Given the description of an element on the screen output the (x, y) to click on. 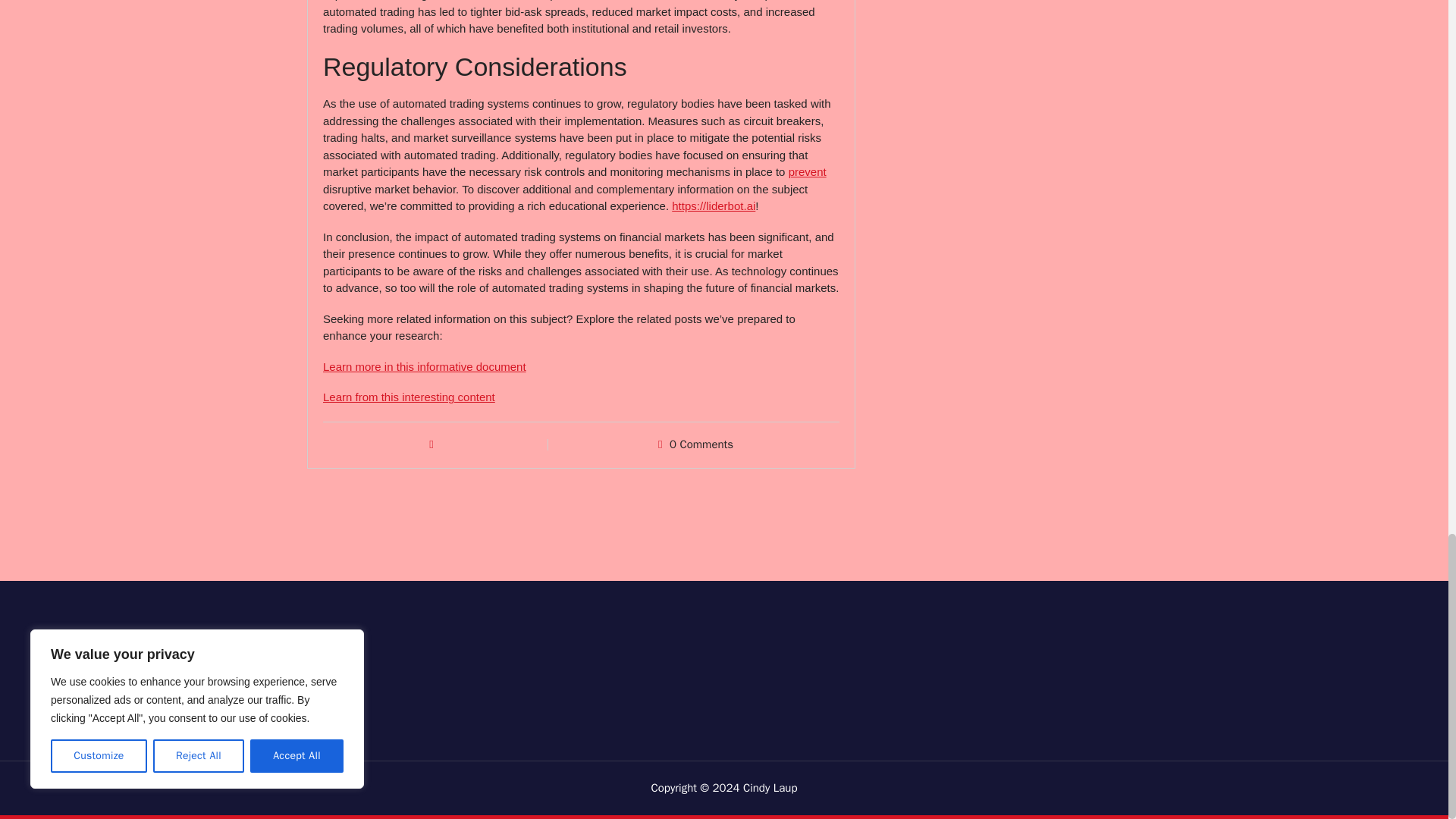
Learn from this interesting content (409, 396)
prevent (808, 171)
Learn more in this informative document (424, 366)
